Given the description of an element on the screen output the (x, y) to click on. 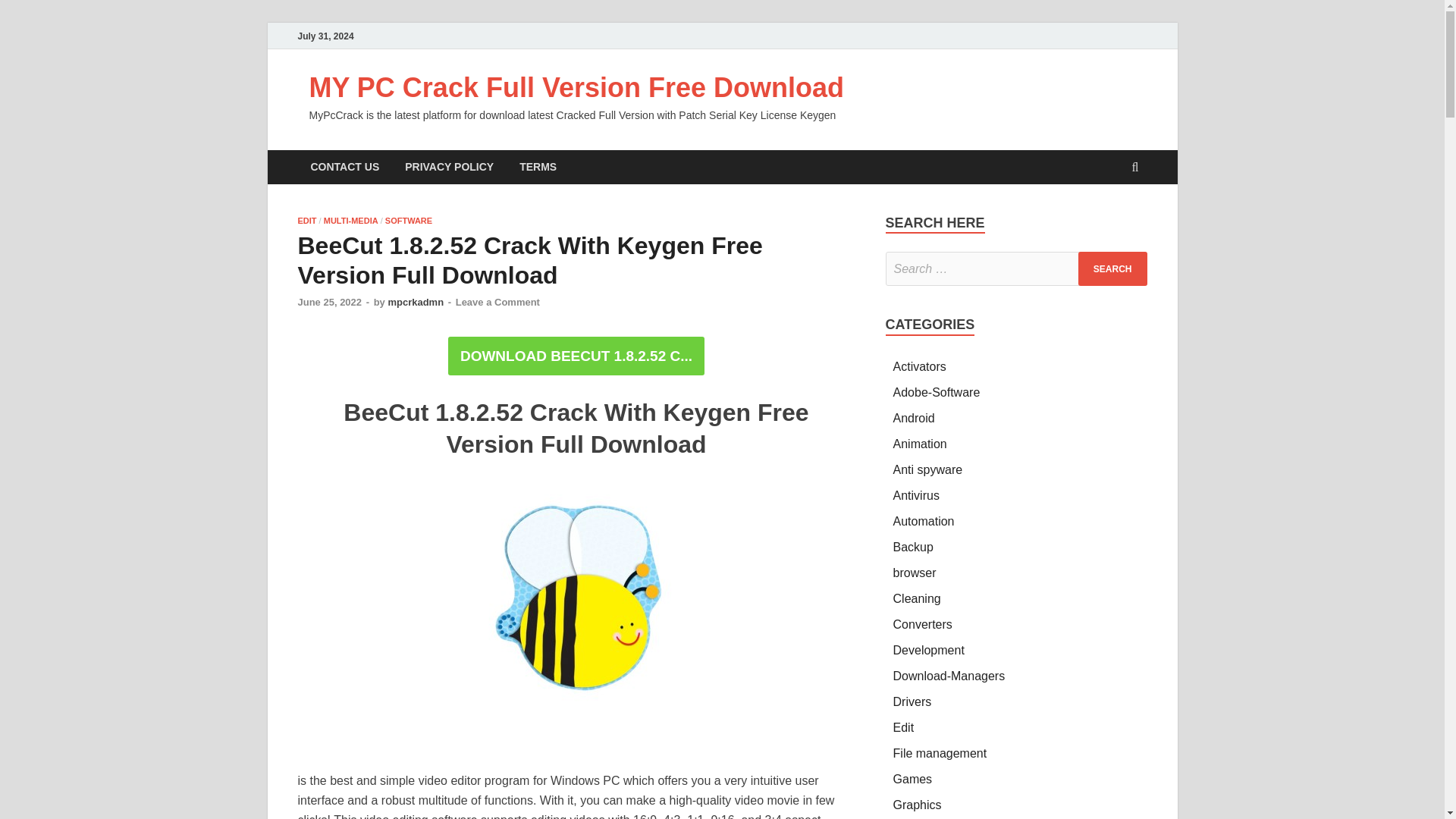
DOWNLOAD BEECUT 1.8.2.52 C... (576, 355)
Leave a Comment (497, 301)
TERMS (537, 166)
MY PC Crack Full Version Free Download (576, 87)
CONTACT US (344, 166)
mpcrkadmn (415, 301)
PRIVACY POLICY (448, 166)
Search (1112, 268)
MULTI-MEDIA (350, 220)
EDIT (306, 220)
